Given the description of an element on the screen output the (x, y) to click on. 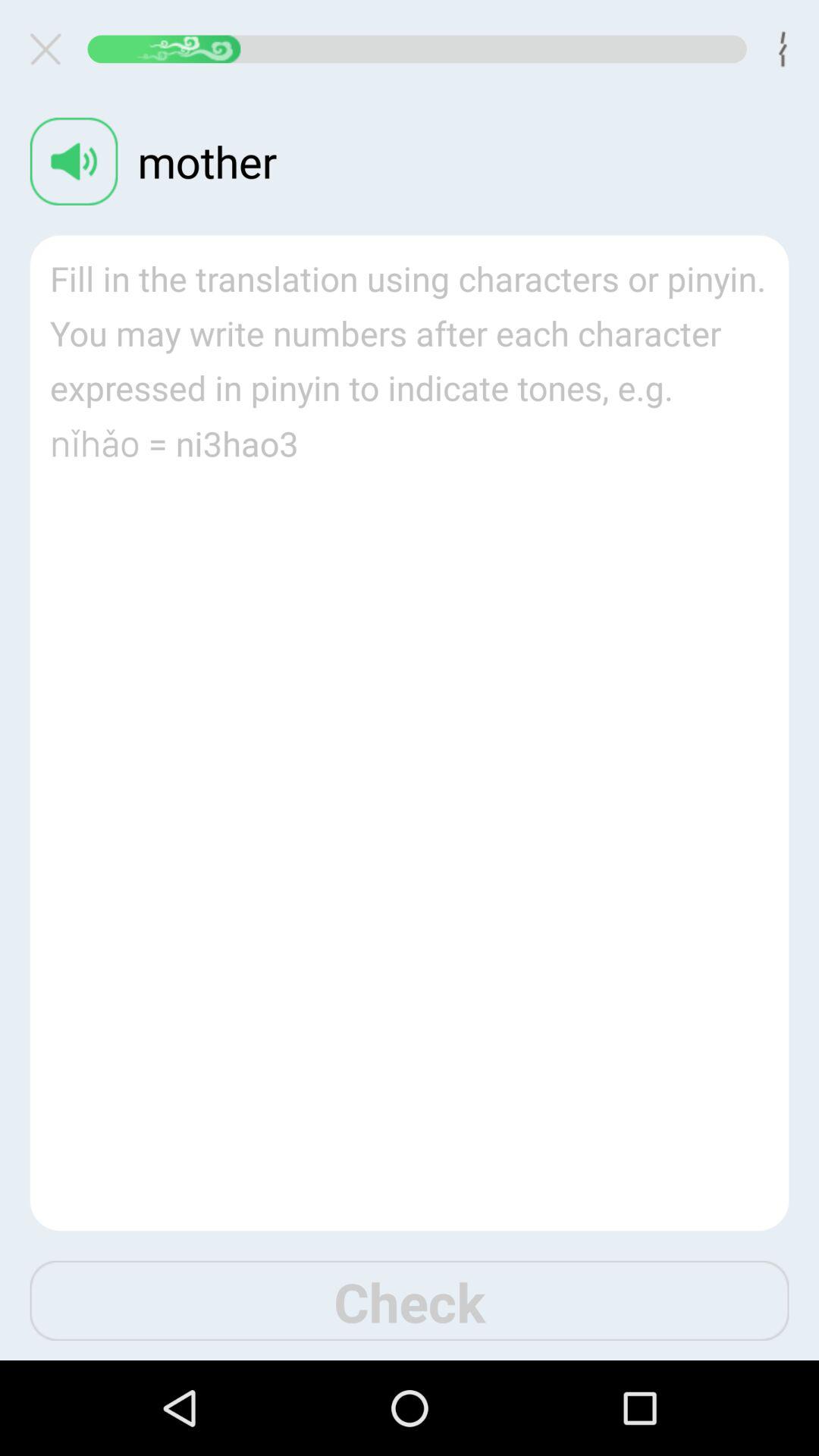
control your volume (73, 161)
